Given the description of an element on the screen output the (x, y) to click on. 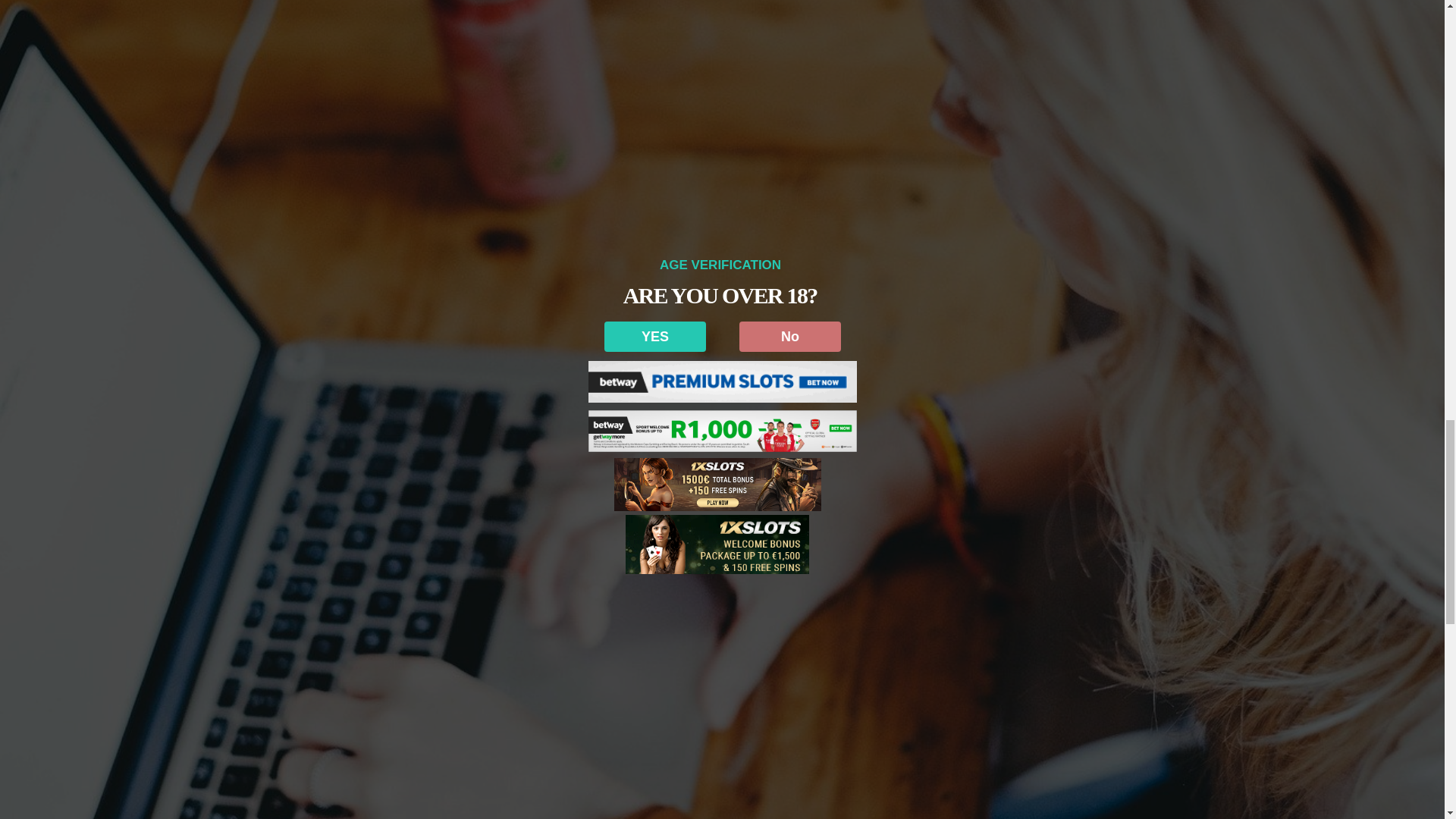
Kenya (322, 748)
Japan (290, 748)
Volleyball (364, 748)
